Given the description of an element on the screen output the (x, y) to click on. 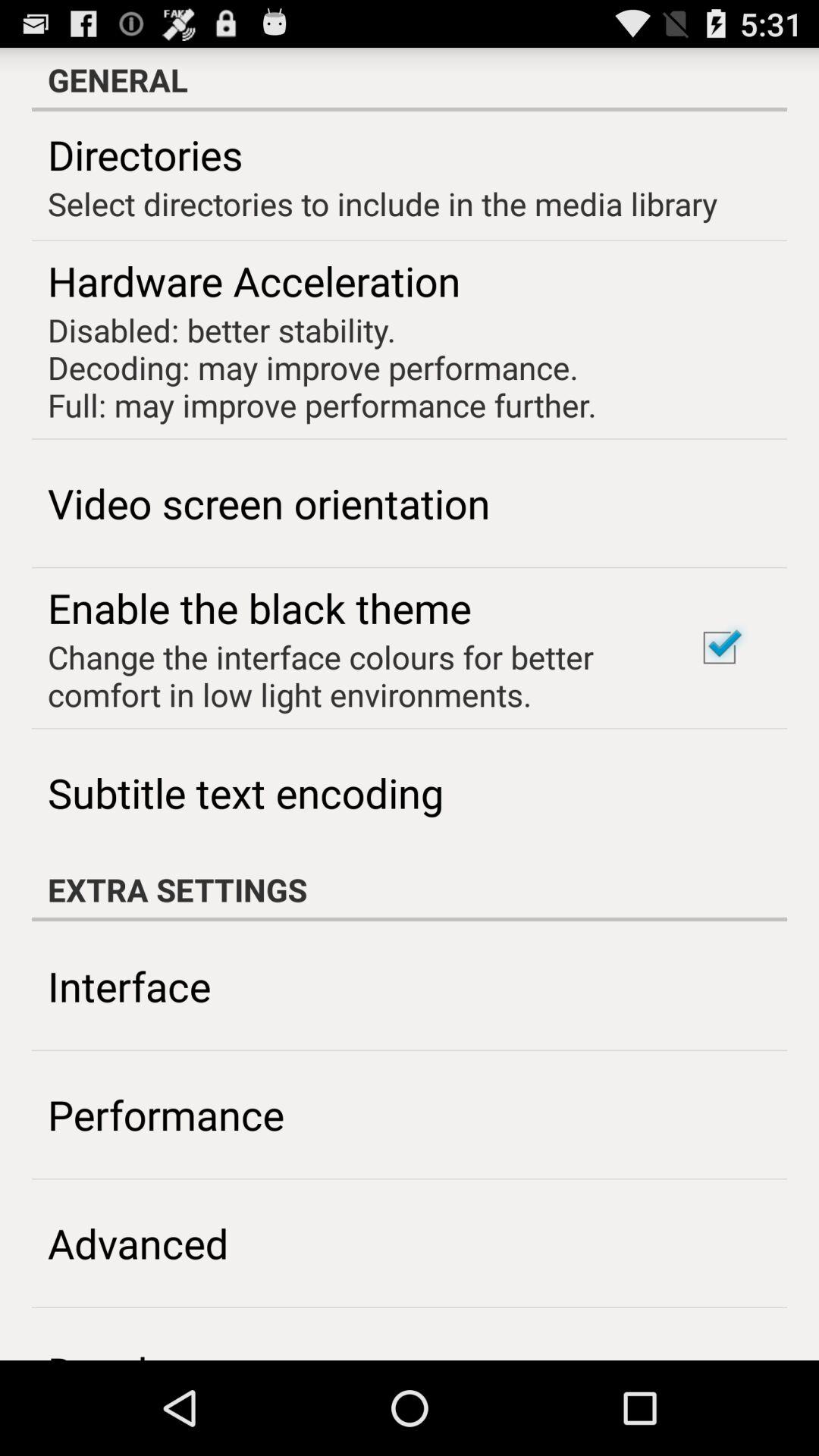
scroll to the change the interface (351, 675)
